Given the description of an element on the screen output the (x, y) to click on. 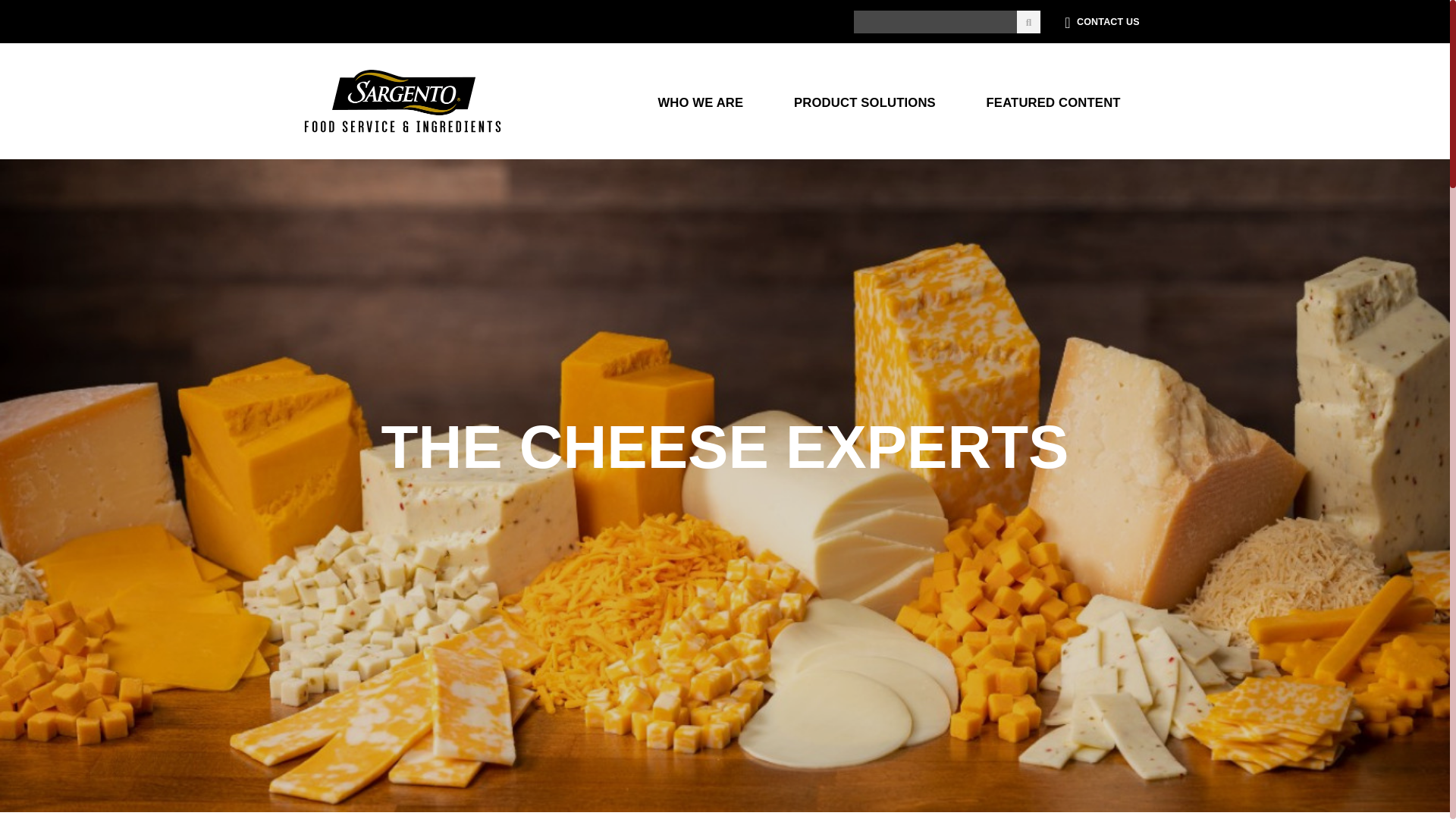
PRODUCT SOLUTIONS (864, 100)
Go to the Home Page (402, 101)
Go to the Product Solutions page (864, 100)
CONTACT US (1107, 22)
WHO WE ARE (699, 100)
Go to the Featured Content page (1052, 100)
Go to the Who We Are page (699, 100)
Go to the Contact Us page (1107, 22)
FEATURED CONTENT (1052, 100)
